Given the description of an element on the screen output the (x, y) to click on. 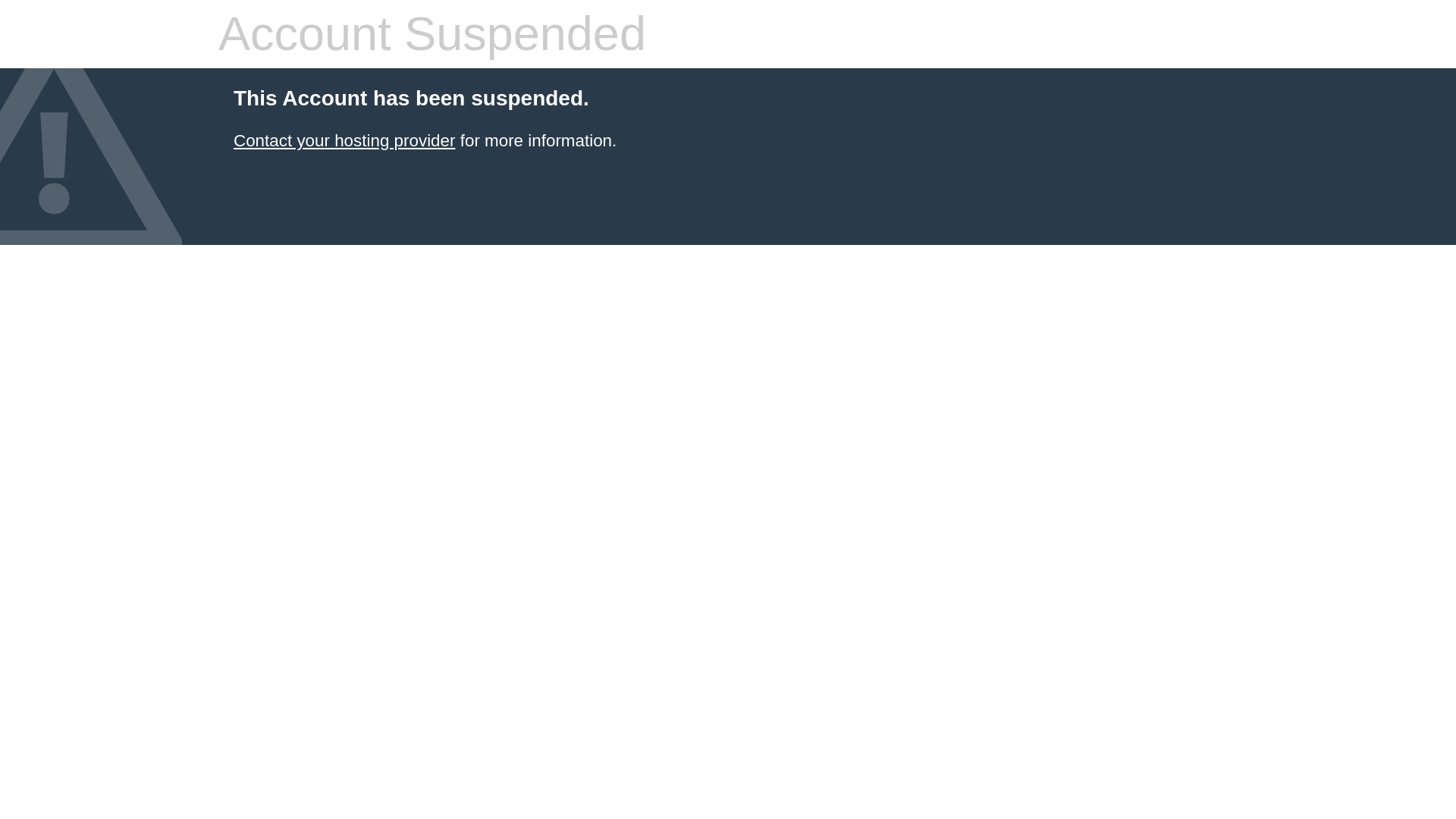
Contact your hosting provider (343, 140)
